Given the description of an element on the screen output the (x, y) to click on. 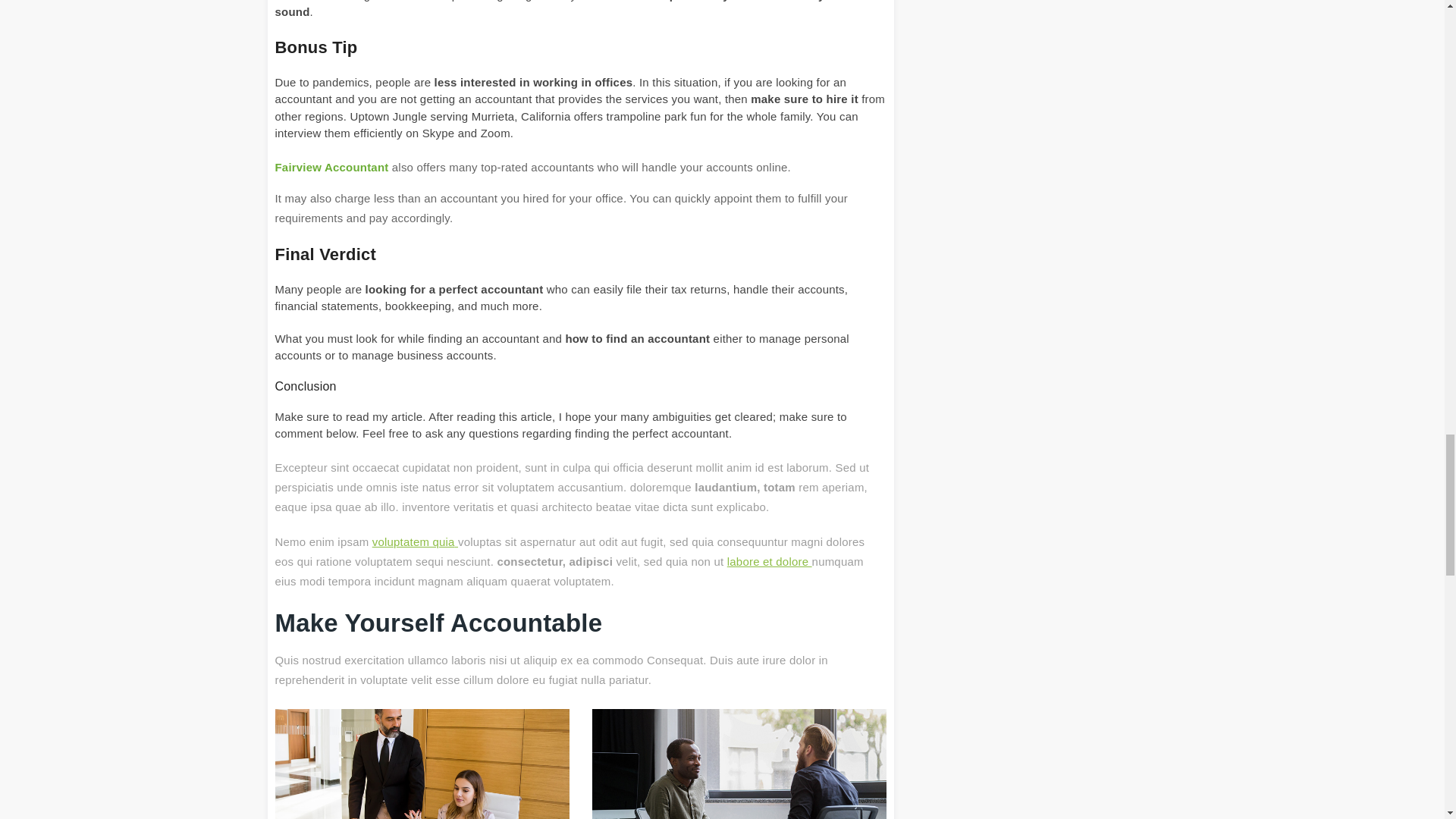
voluptatem quia (413, 541)
Uptown Jungle serving Murrieta (431, 115)
Fairview Accountant (331, 166)
